Given the description of an element on the screen output the (x, y) to click on. 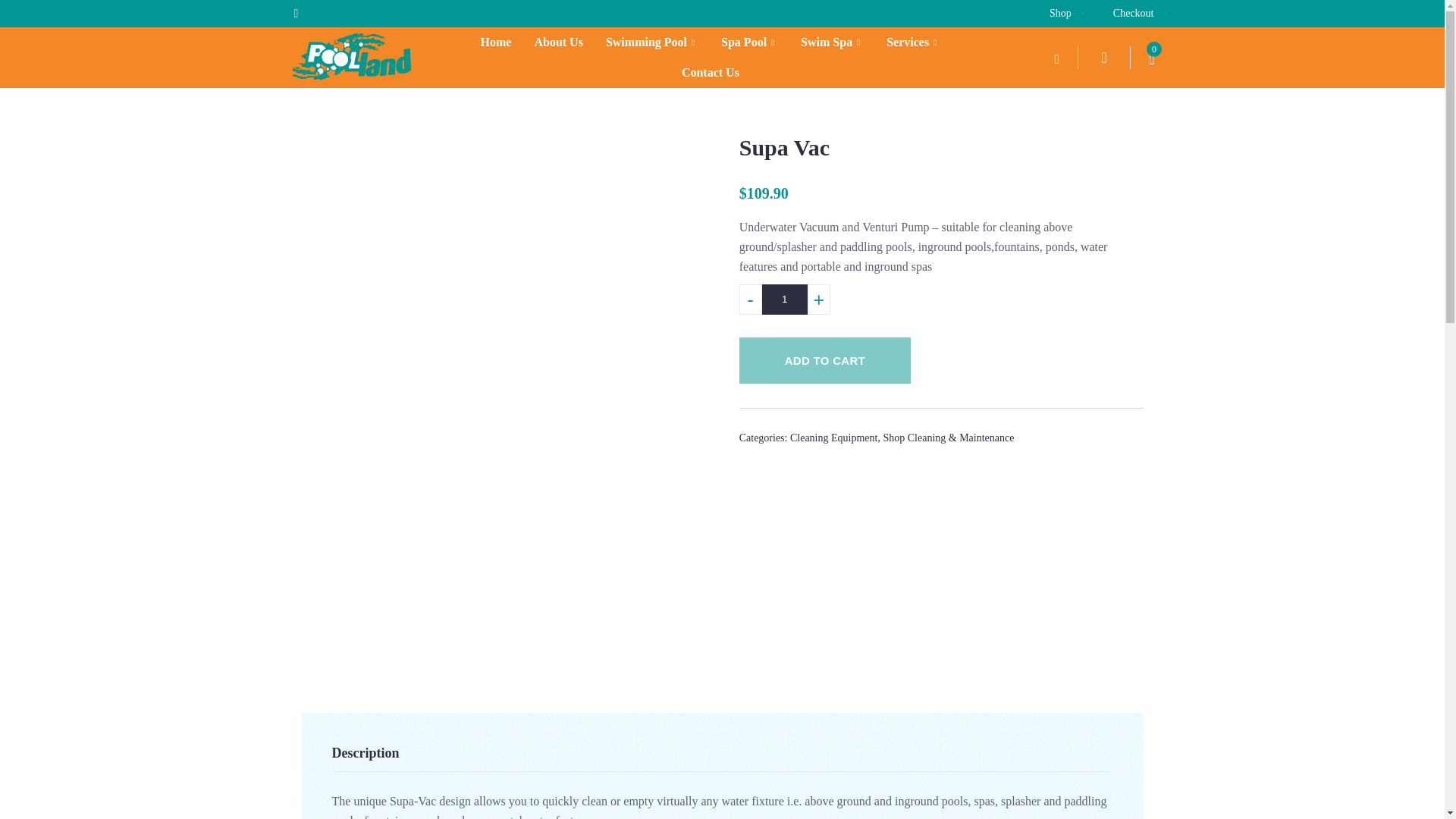
Spa Pool (749, 42)
1 (784, 299)
Checkout (1124, 13)
Swimming Pool (652, 42)
Home (495, 42)
About Us (558, 42)
Shop (1051, 13)
